Given the description of an element on the screen output the (x, y) to click on. 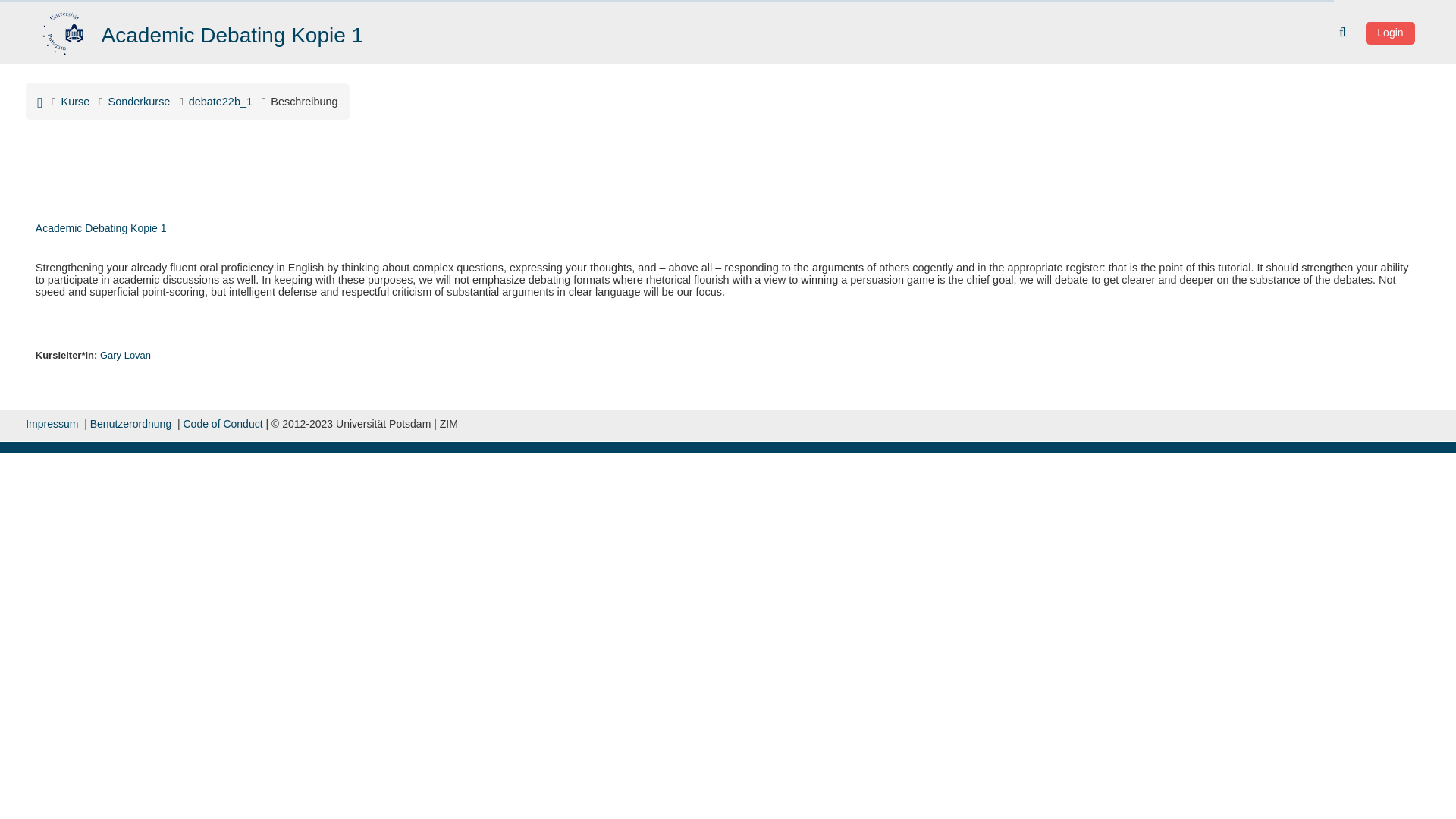
Sucheingabe umschalten (1344, 32)
Login (1389, 33)
Sucheingabe umschalten (1344, 32)
Moodle.UP (64, 30)
